Given the description of an element on the screen output the (x, y) to click on. 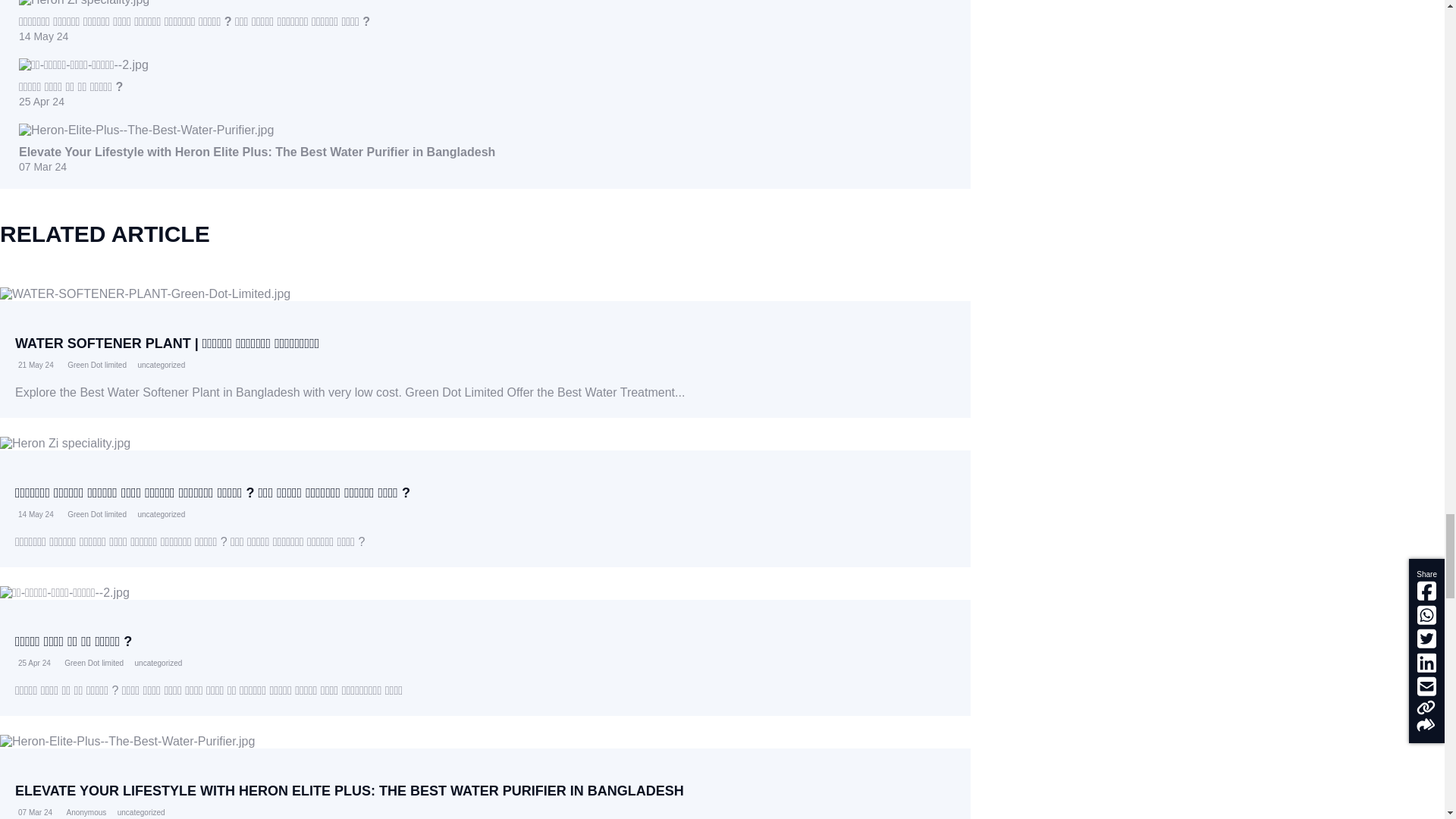
Heron-Elite-Plus--The-Best-Water-Purifier.jpg (127, 741)
Heron Zi speciality.jpg (65, 443)
WATER-SOFTENER-PLANT-Green-Dot-Limited.jpg (144, 294)
Heron Zi speciality.jpg (83, 3)
Heron-Elite-Plus--The-Best-Water-Purifier.jpg (145, 130)
